Given the description of an element on the screen output the (x, y) to click on. 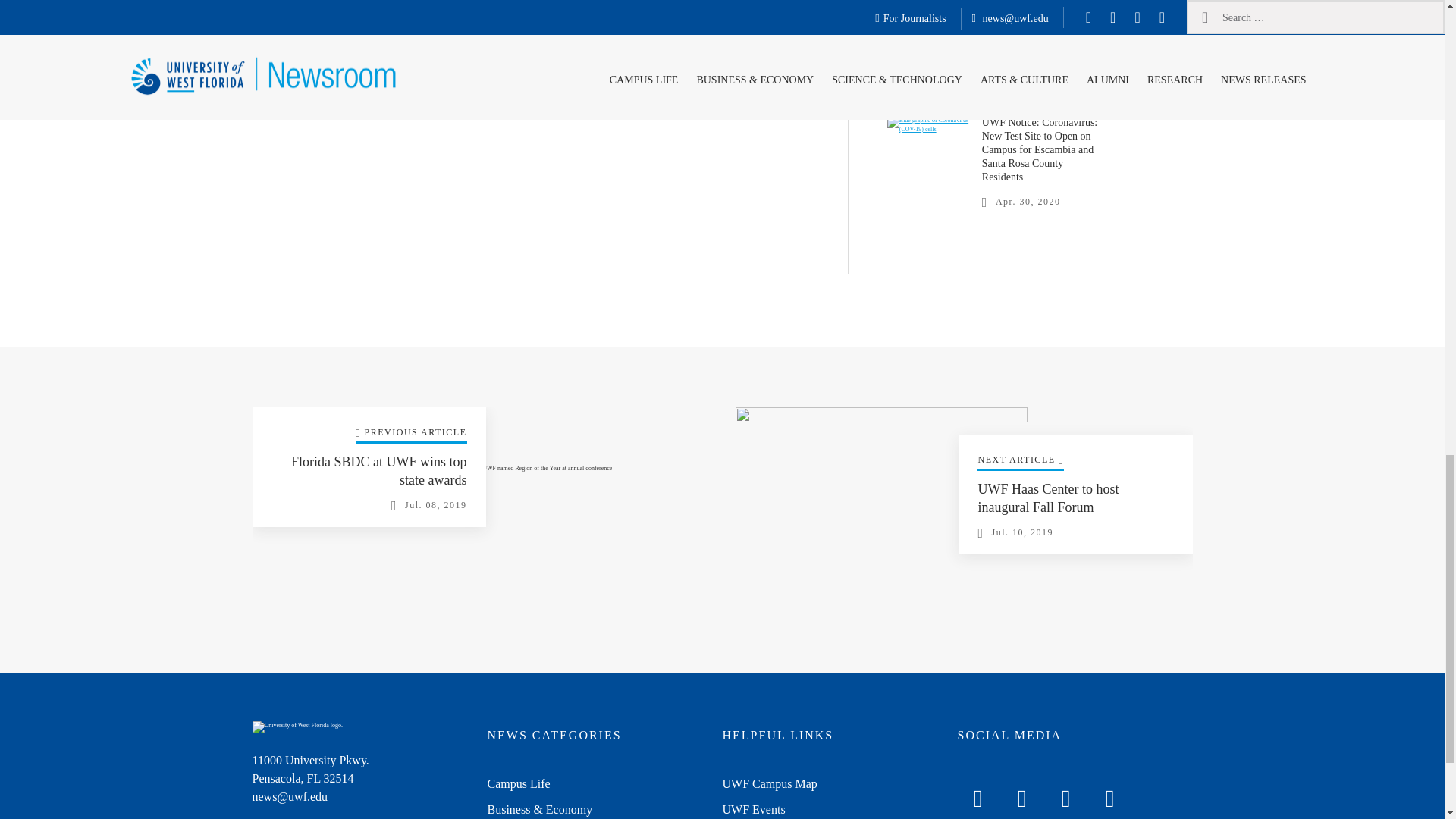
Follow us on Instagram (1065, 794)
Follow us on X (1021, 794)
UWF rises to top two in Florida State University System (1032, 47)
Connect with us on Linkedin (1109, 794)
UWF rises to top two in Florida State University System (928, 47)
Campus Life (518, 785)
Find us on Facebook (976, 794)
